Given the description of an element on the screen output the (x, y) to click on. 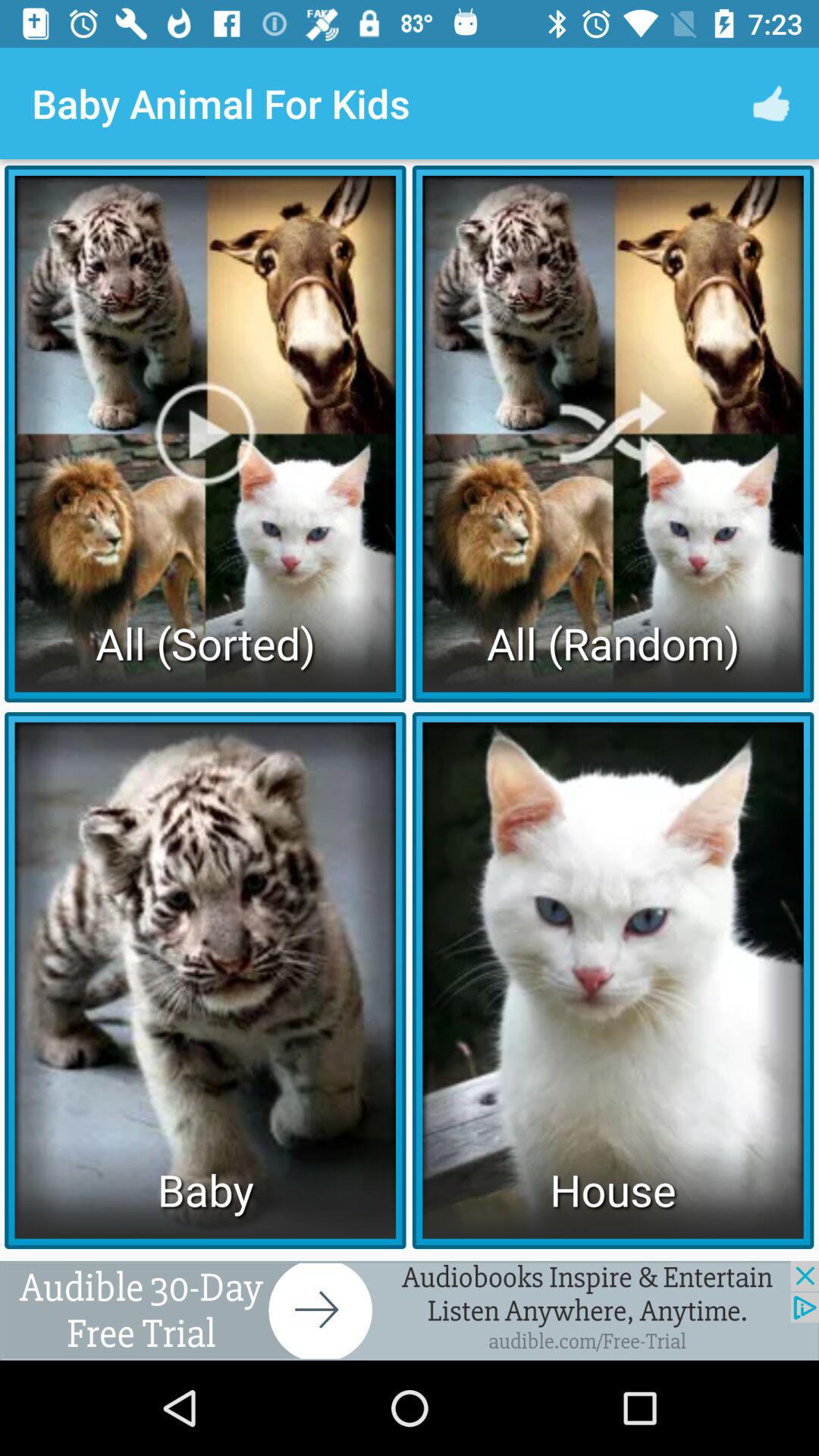
favorited (409, 1310)
